Given the description of an element on the screen output the (x, y) to click on. 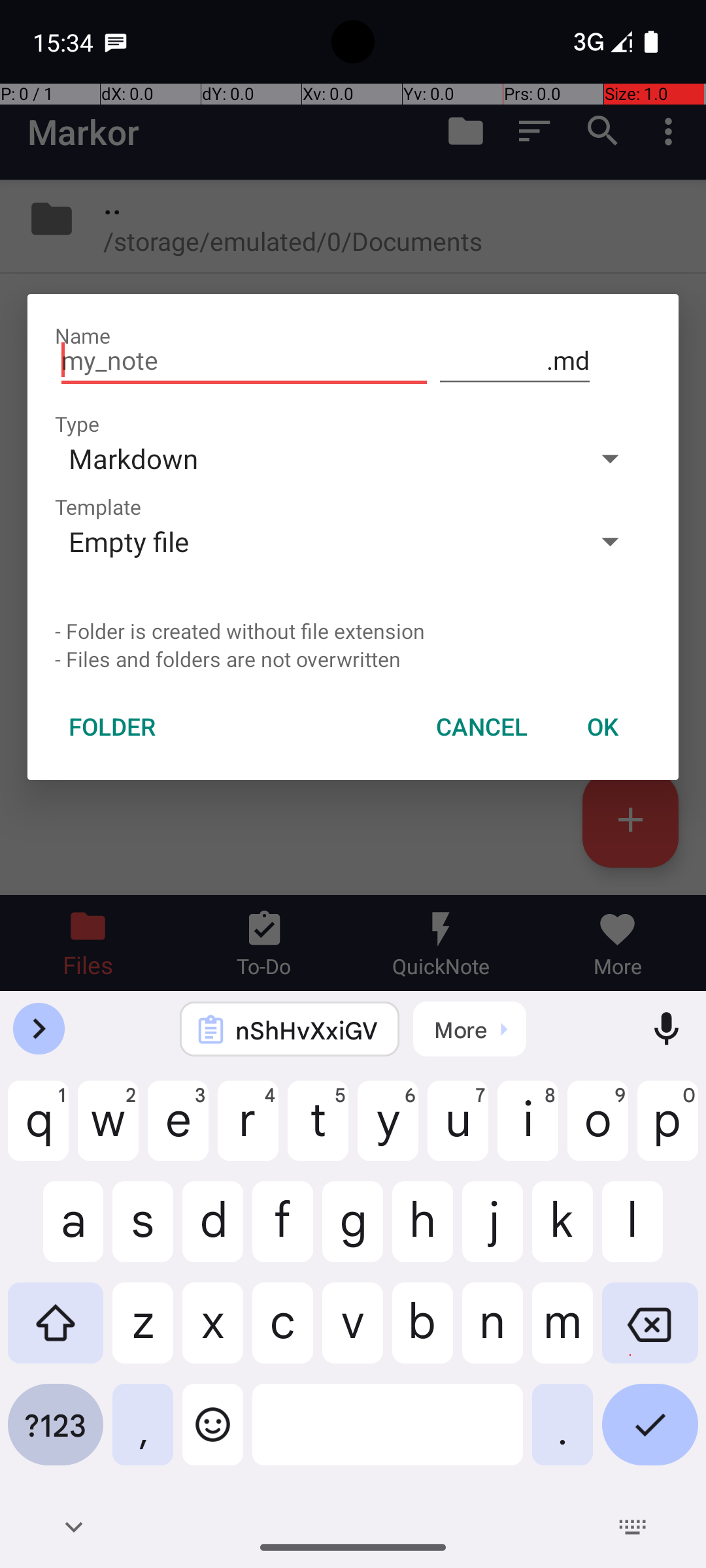
my_note Element type: android.widget.EditText (243, 360)
.md Element type: android.widget.EditText (514, 360)
Type Element type: android.widget.TextView (76, 423)
Template Element type: android.widget.TextView (97, 506)
- Folder is created without file extension Element type: android.widget.TextView (352, 630)
- Files and folders are not overwritten Element type: android.widget.TextView (352, 658)
FOLDER Element type: android.widget.Button (111, 726)
Markdown Element type: android.widget.TextView (311, 457)
Empty file Element type: android.widget.TextView (311, 540)
nShHvXxiGV Element type: android.widget.TextView (306, 1029)
